Given the description of an element on the screen output the (x, y) to click on. 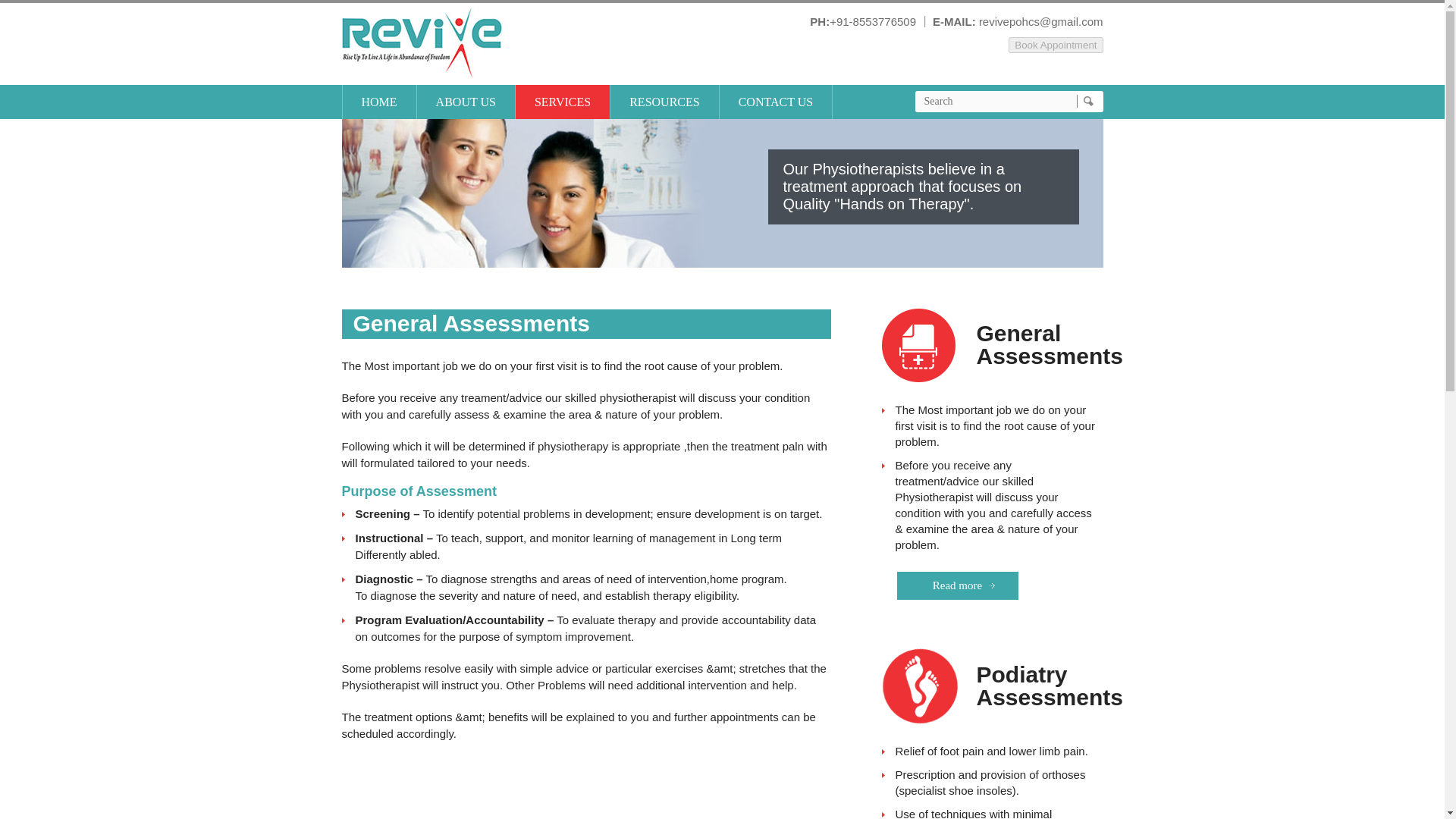
Read more (956, 585)
CONTACT US (775, 101)
SERVICES (562, 101)
Book Appointment (1055, 44)
RESOURCES (663, 101)
HOME (377, 101)
Revive (426, 41)
ABOUT US (465, 101)
